Given the description of an element on the screen output the (x, y) to click on. 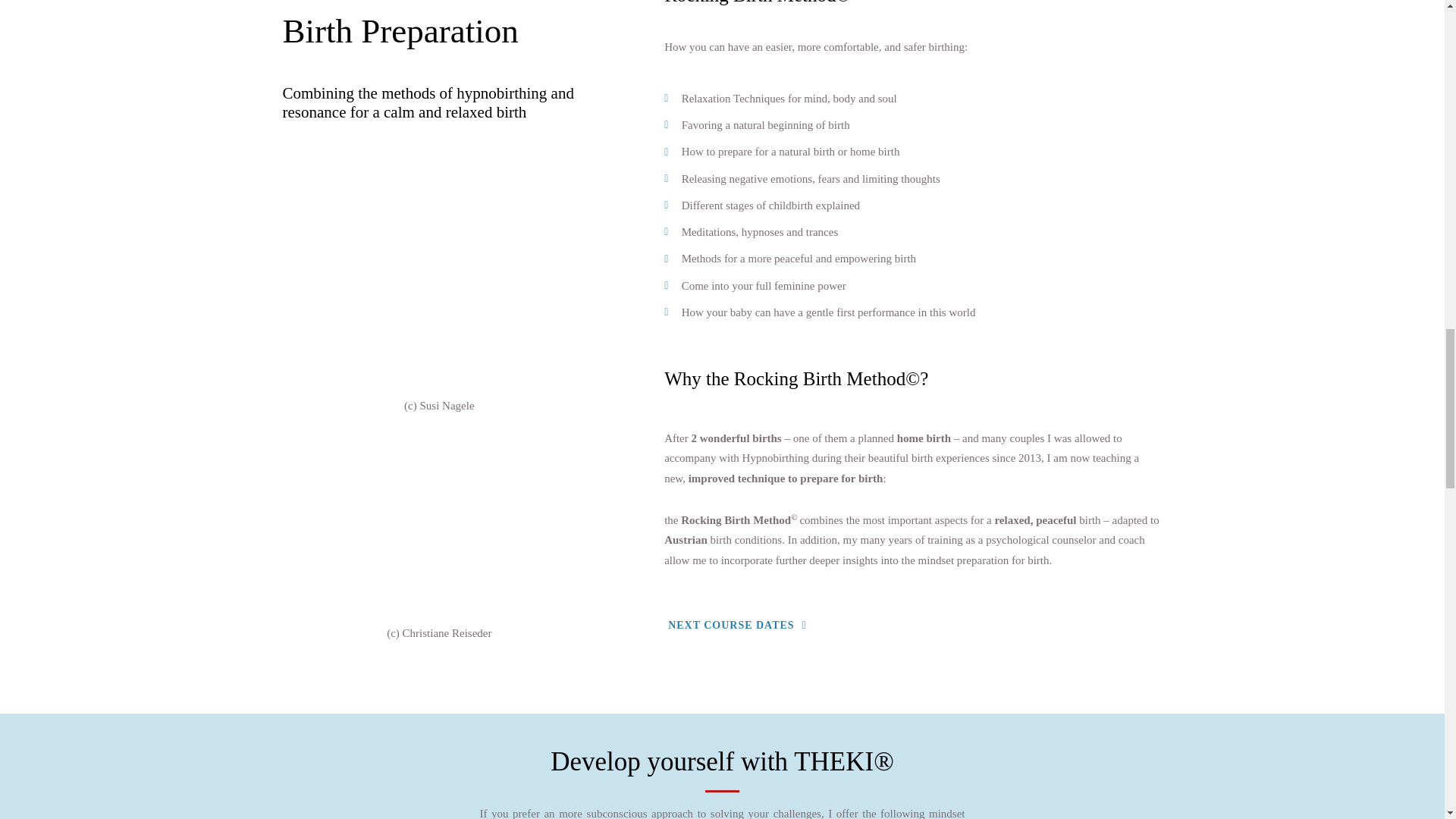
NEXT COURSE DATES (737, 625)
